Given the description of an element on the screen output the (x, y) to click on. 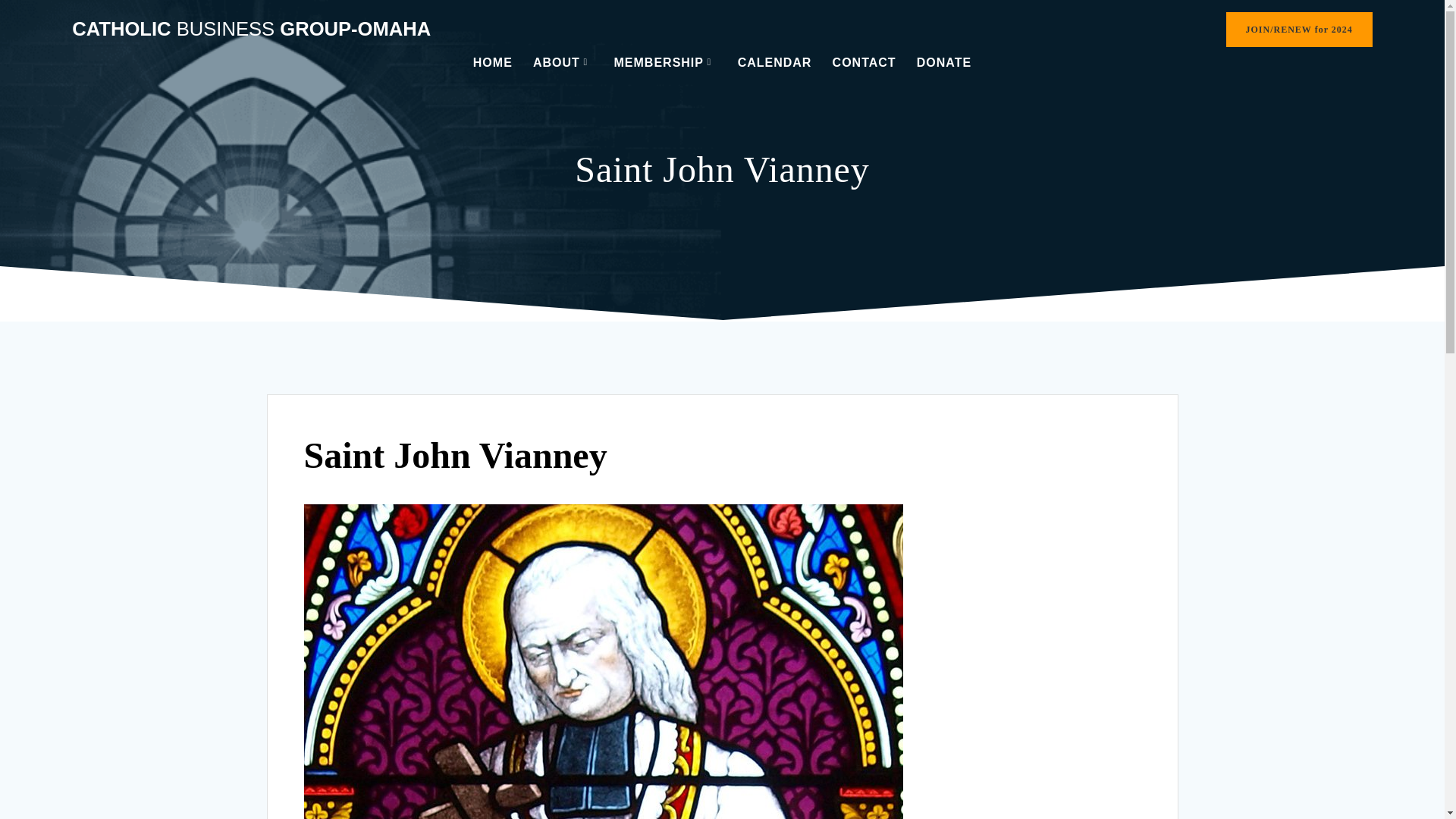
CATHOLIC BUSINESS GROUP-OMAHA (250, 29)
HOME (492, 62)
ABOUT (562, 62)
CONTACT (864, 62)
MEMBERSHIP (665, 62)
CALENDAR (775, 62)
DONATE (944, 62)
